Given the description of an element on the screen output the (x, y) to click on. 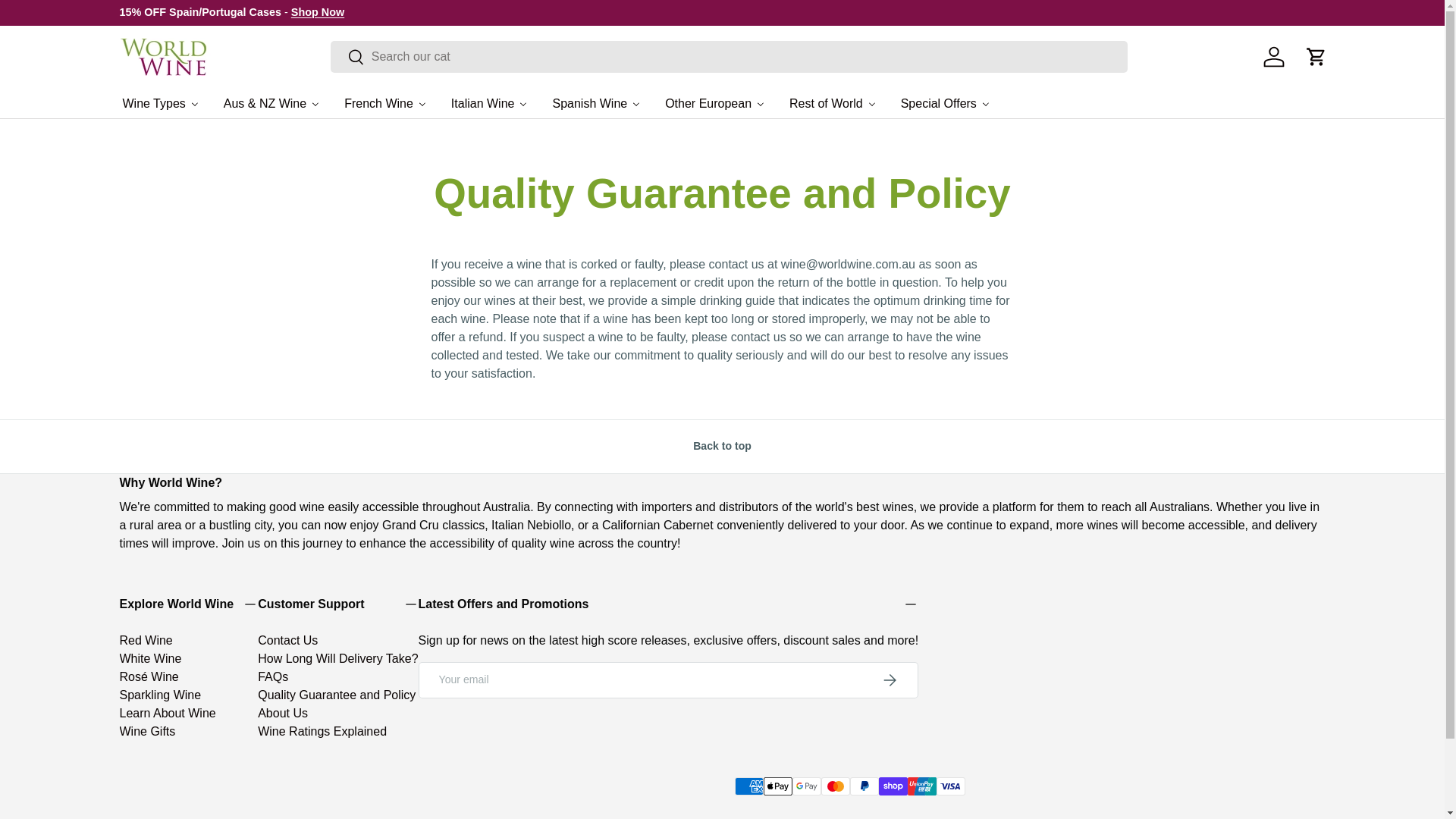
Apple Pay (777, 786)
Log in (1273, 56)
Visa (949, 786)
Shop Now (317, 11)
PayPal (862, 786)
Cart (1316, 56)
Shop Pay (892, 786)
American Express (747, 786)
Union Pay (921, 786)
Wine Types (160, 102)
